Given the description of an element on the screen output the (x, y) to click on. 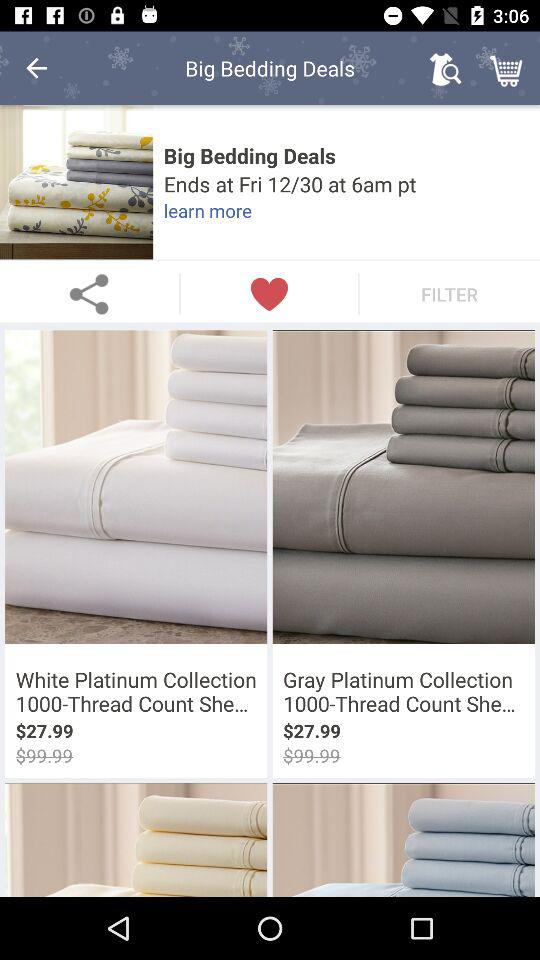
share link (89, 294)
